Given the description of an element on the screen output the (x, y) to click on. 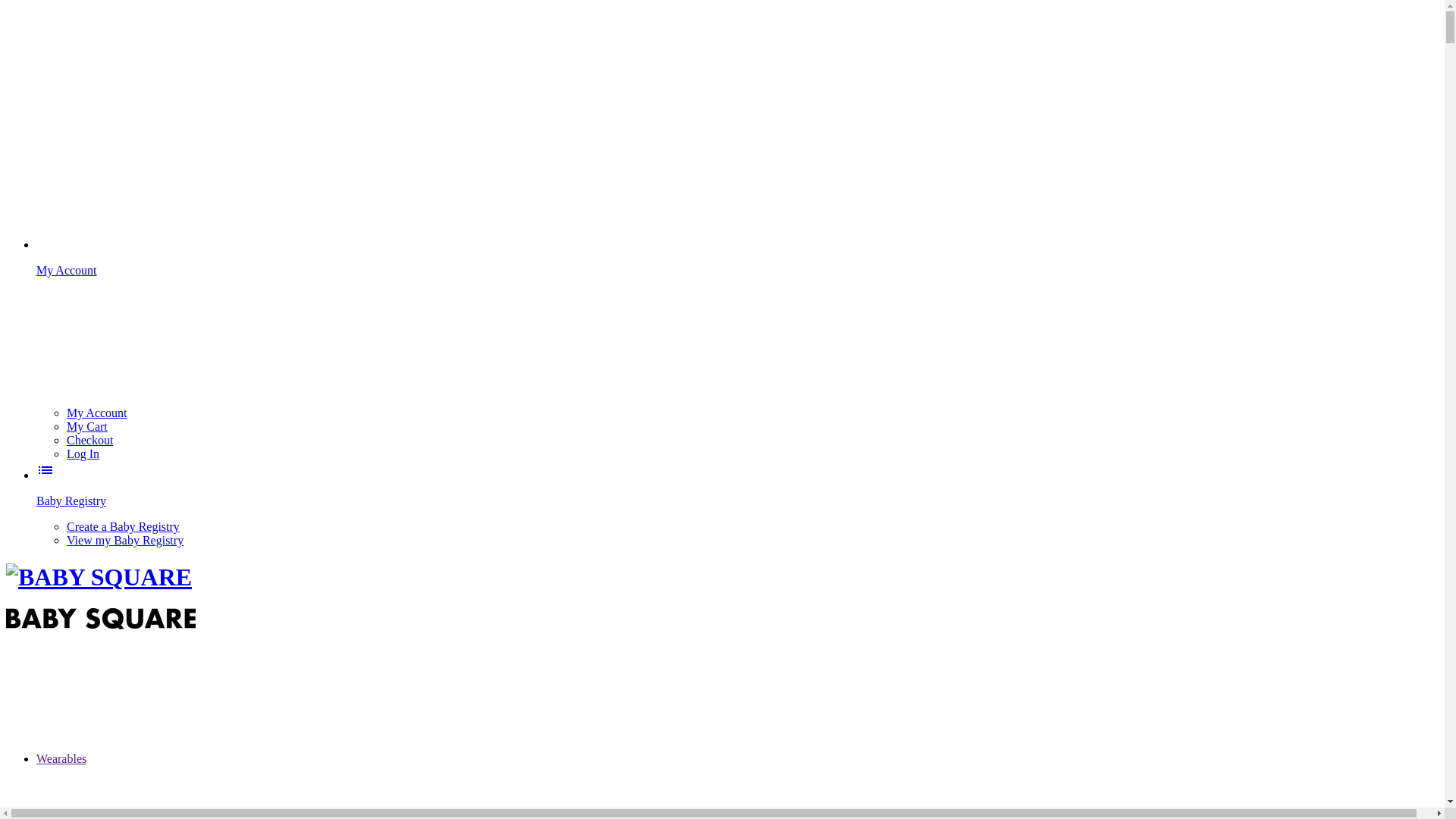
Wearables Element type: text (174, 758)
Log In Element type: text (82, 453)
My Account Element type: text (737, 321)
Create a Baby Registry Element type: text (122, 526)
BABY SQUARE Element type: hover (98, 577)
BABY SQUARE Element type: hover (100, 618)
My Cart Element type: text (86, 426)
View my Baby Registry Element type: text (124, 539)
My Account Element type: text (96, 412)
Checkout Element type: text (89, 439)
list
Baby Registry Element type: text (737, 488)
